Given the description of an element on the screen output the (x, y) to click on. 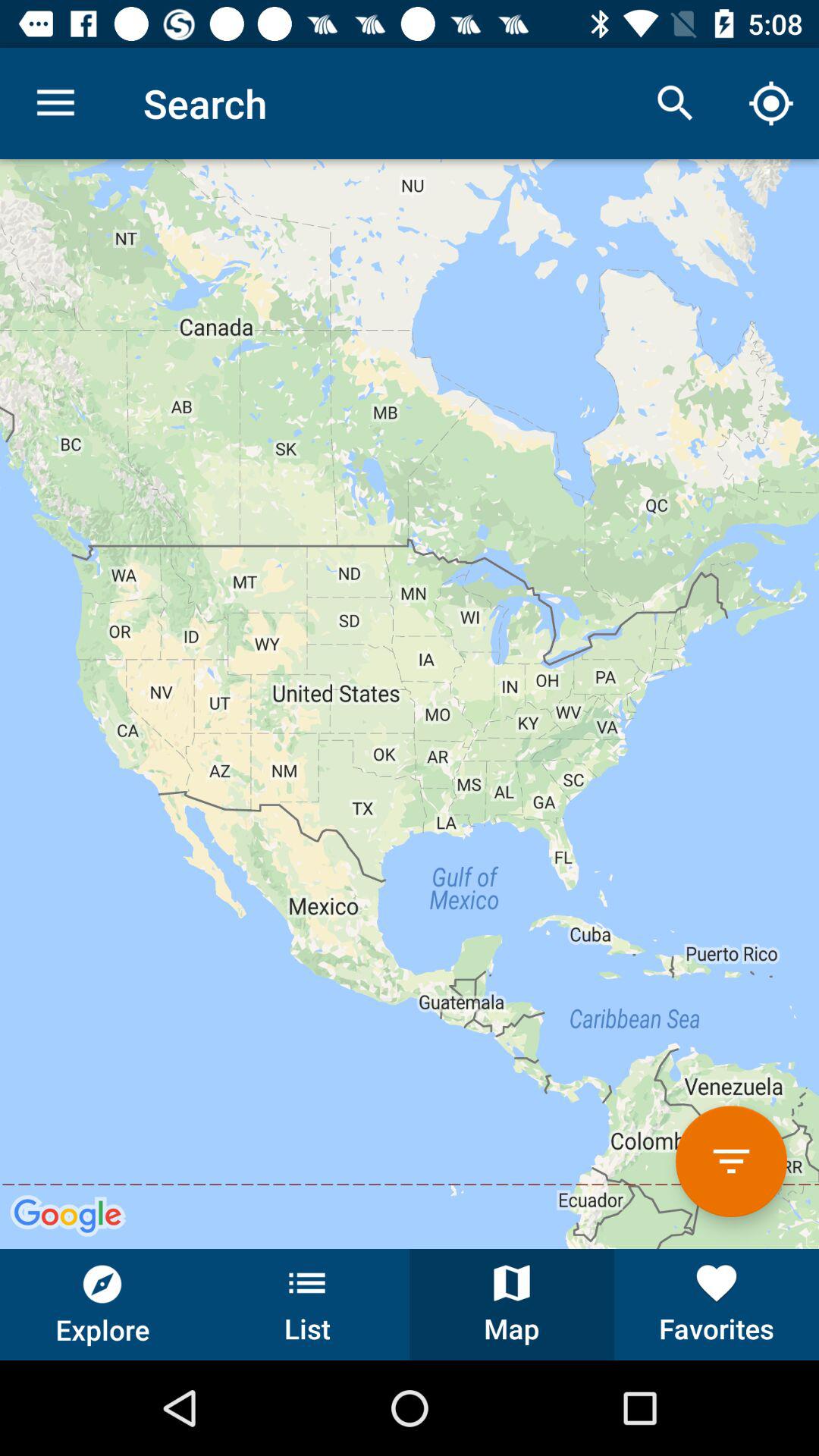
launch the item at the center (409, 703)
